Given the description of an element on the screen output the (x, y) to click on. 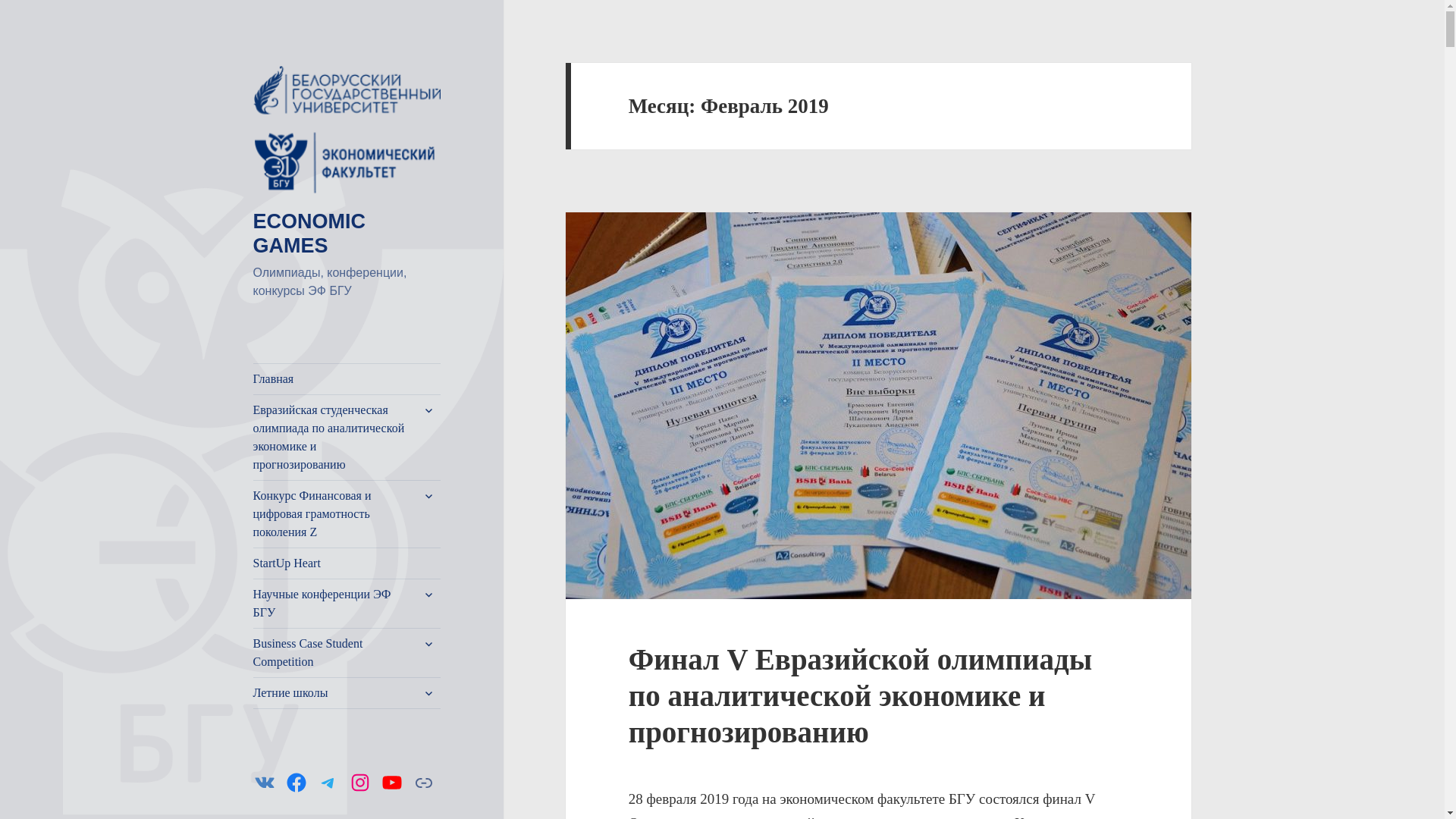
VK Element type: text (264, 782)
Telegram Element type: text (327, 782)
YouTube Element type: text (391, 782)
Facebook Element type: text (296, 782)
Link Element type: text (423, 782)
Instagram Element type: text (359, 782)
Business Case Student Competition Element type: text (347, 652)
ECONOMIC GAMES Element type: text (309, 233)
StartUp Heart Element type: text (347, 563)
